Given the description of an element on the screen output the (x, y) to click on. 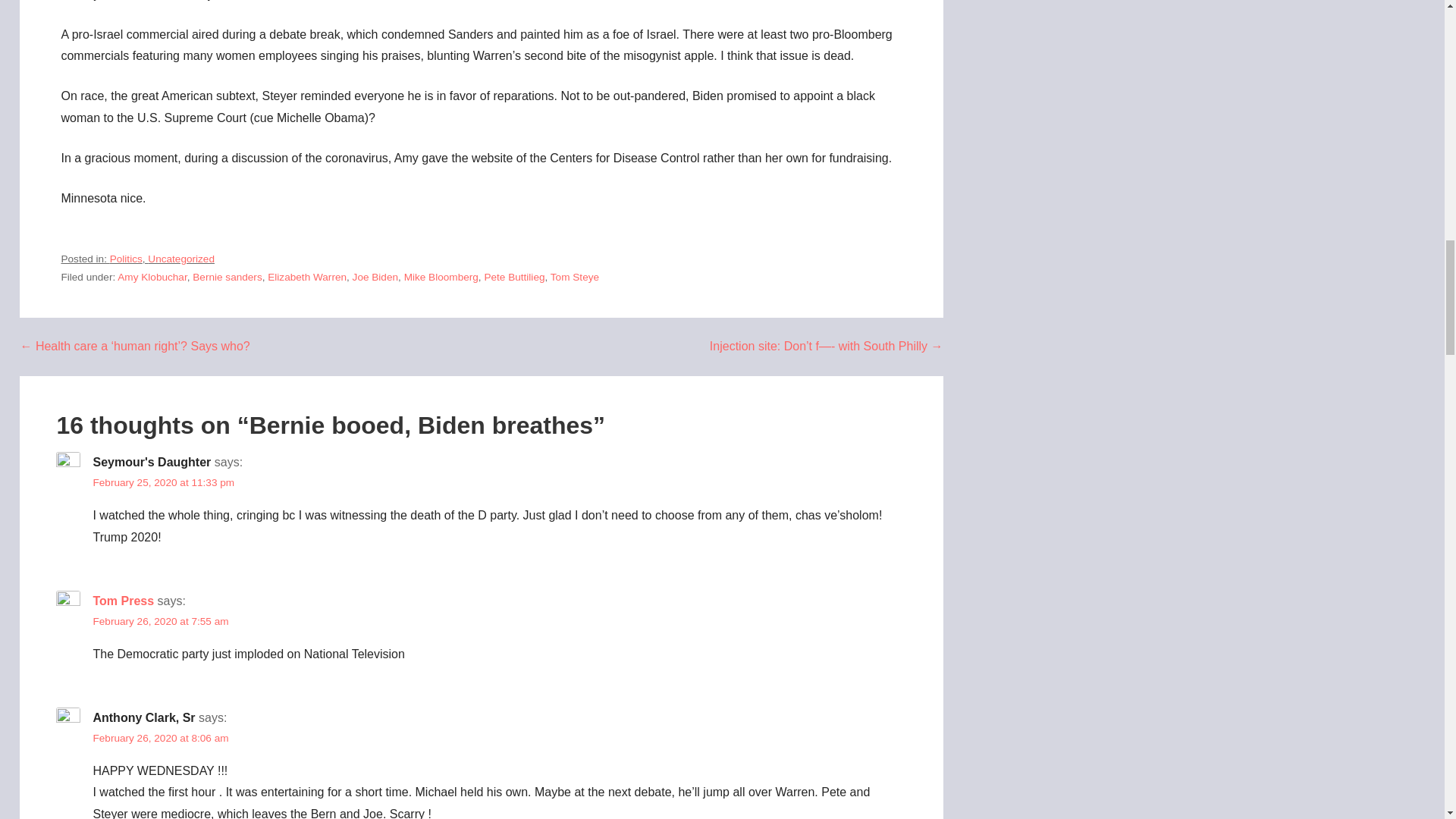
Mike Bloomberg (441, 276)
Elizabeth Warren (306, 276)
Tom Press (123, 600)
Pete Buttilieg (513, 276)
Joe Biden (374, 276)
Tom Steye (574, 276)
February 26, 2020 at 7:55 am (160, 621)
February 26, 2020 at 8:06 am (160, 737)
Amy Klobuchar (151, 276)
Uncategorized (181, 258)
